Given the description of an element on the screen output the (x, y) to click on. 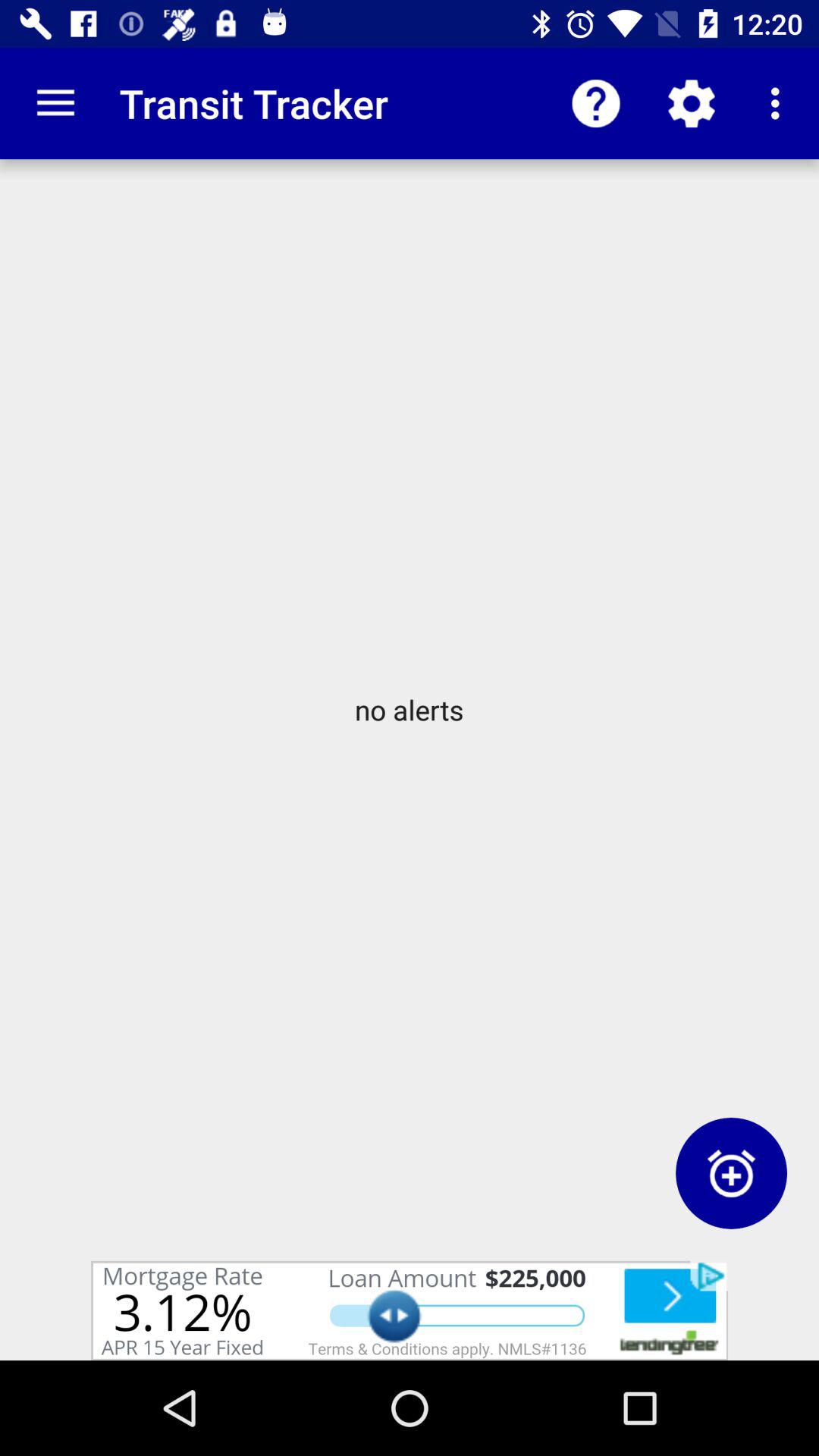
see advertisement (409, 1310)
